Given the description of an element on the screen output the (x, y) to click on. 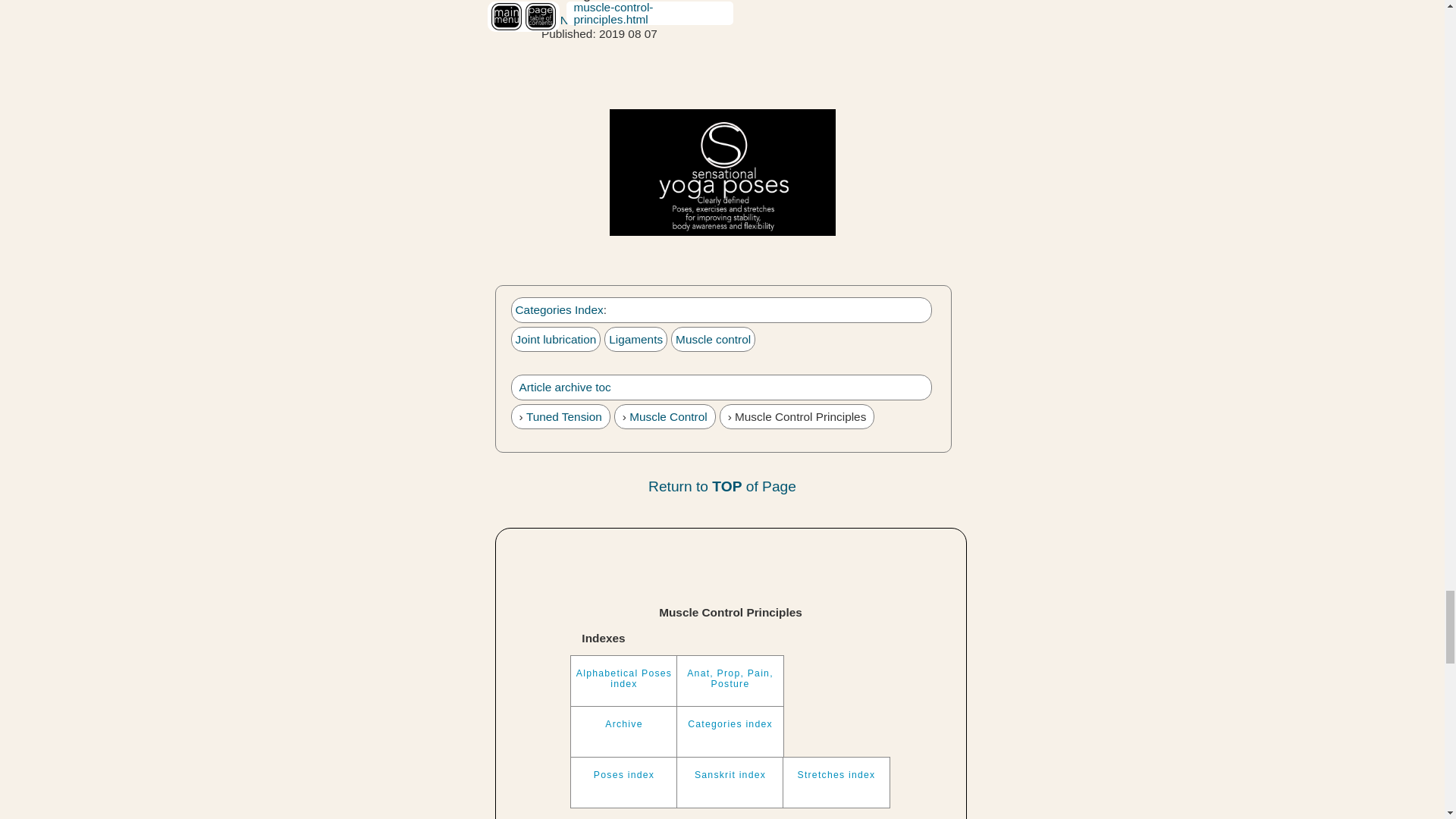
Neil Keleher (592, 19)
Sensational Yoga Poses (722, 172)
